Given the description of an element on the screen output the (x, y) to click on. 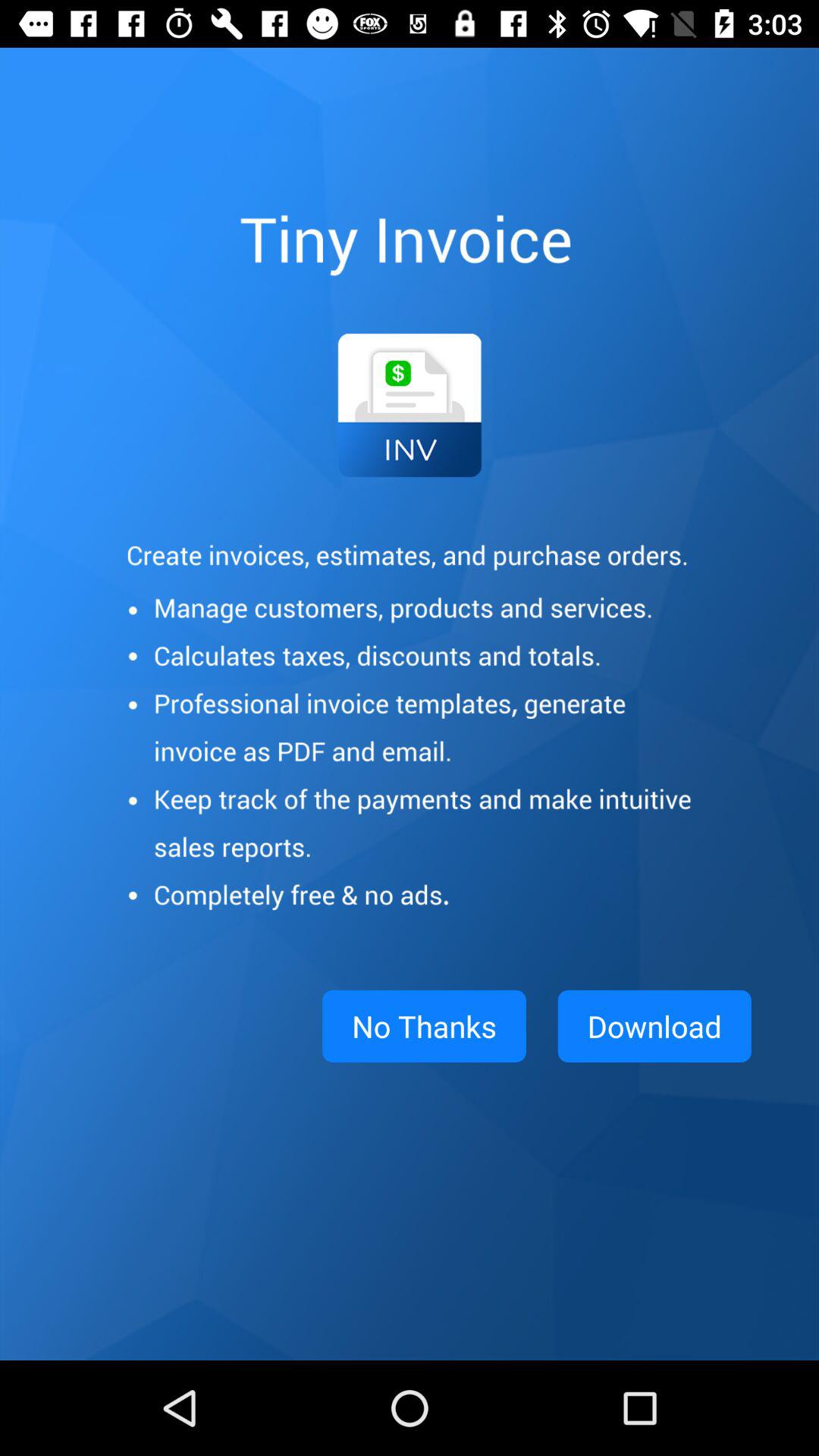
select the no thanks app (424, 1026)
